Given the description of an element on the screen output the (x, y) to click on. 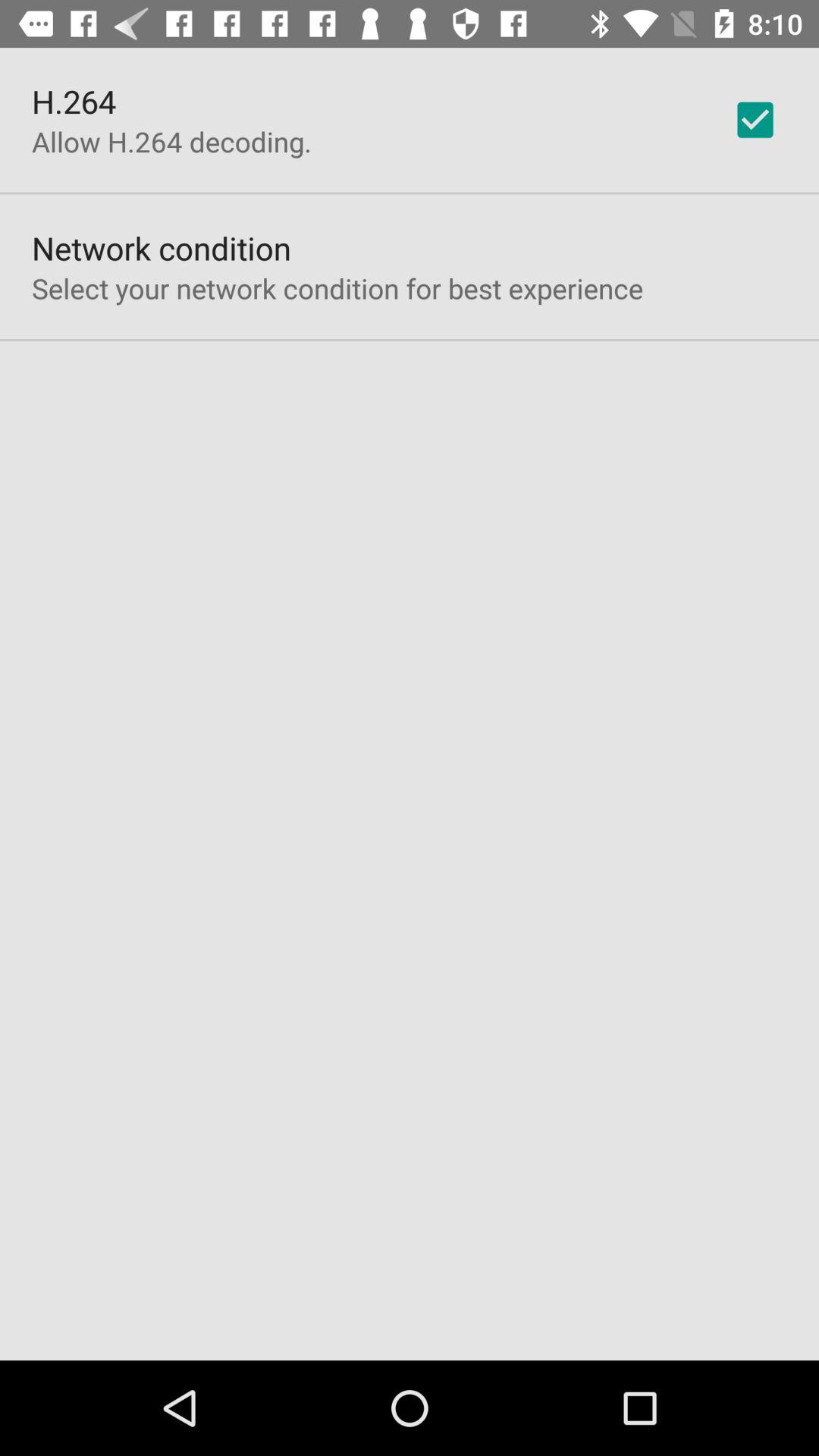
turn off the app to the right of allow h 264 app (755, 119)
